Given the description of an element on the screen output the (x, y) to click on. 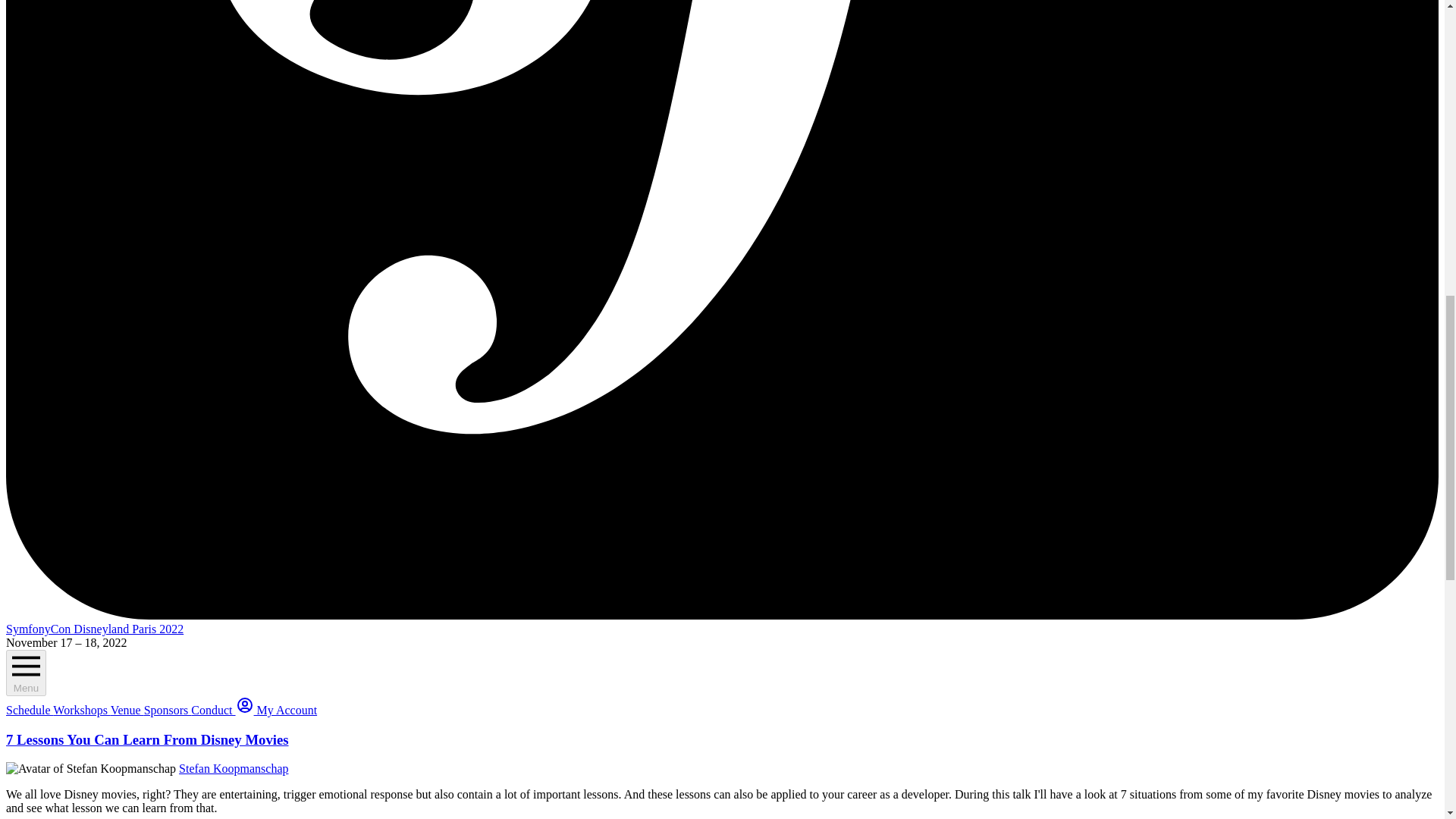
SymfonyCon Disneyland Paris 2022 (94, 628)
My Account (276, 709)
Stefan Koopmanschap (233, 768)
Workshops (81, 709)
Conduct (212, 709)
Schedule (28, 709)
Sponsors (168, 709)
7 Lessons You Can Learn From Disney Movies (146, 739)
Venue (127, 709)
